Given the description of an element on the screen output the (x, y) to click on. 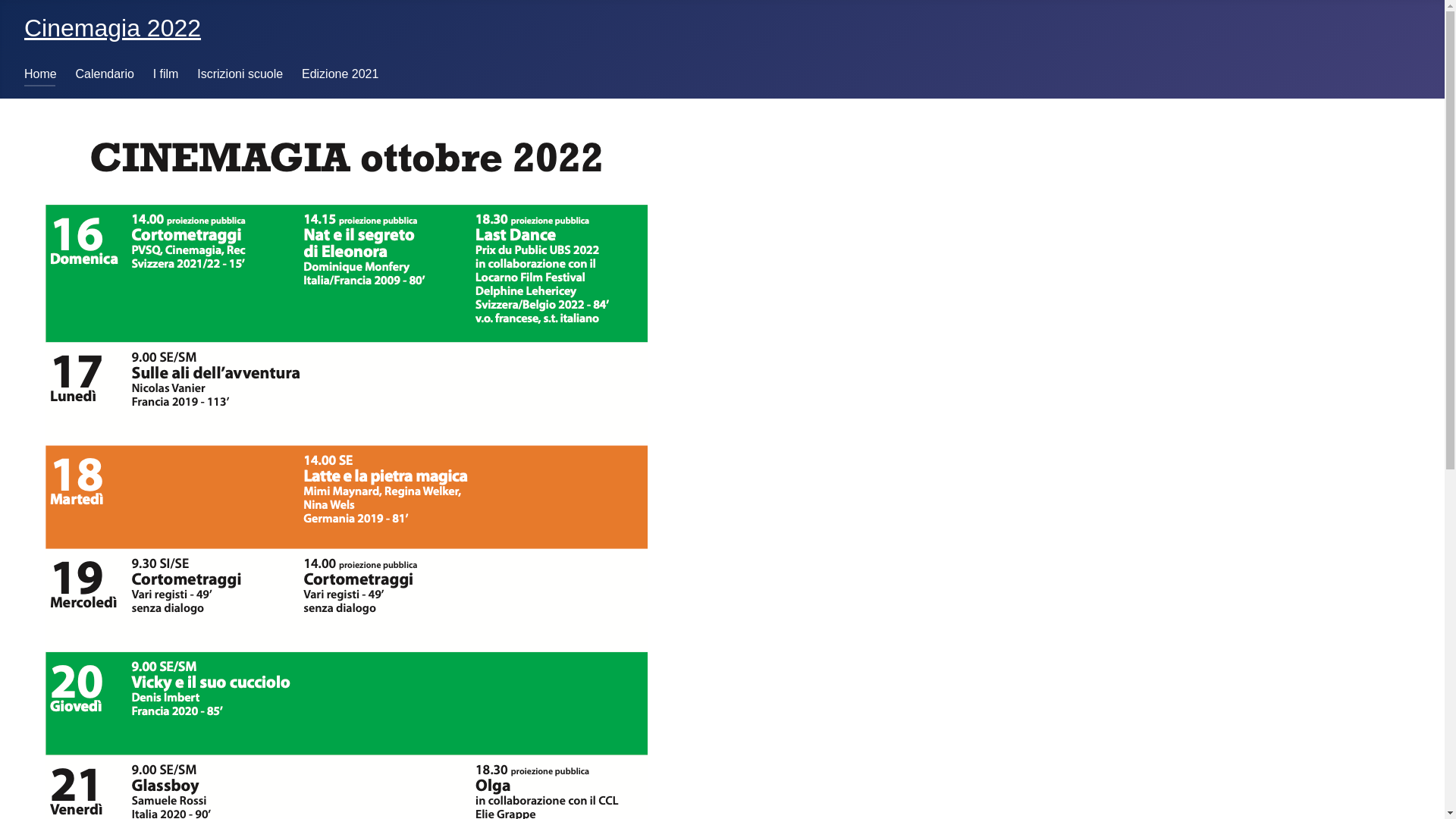
Iscrizioni scuole Element type: text (239, 73)
Home Element type: text (40, 73)
Calendario Element type: text (104, 73)
I film Element type: text (165, 73)
Cinemagia 2022 Element type: text (112, 27)
Edizione 2021 Element type: text (339, 73)
